Given the description of an element on the screen output the (x, y) to click on. 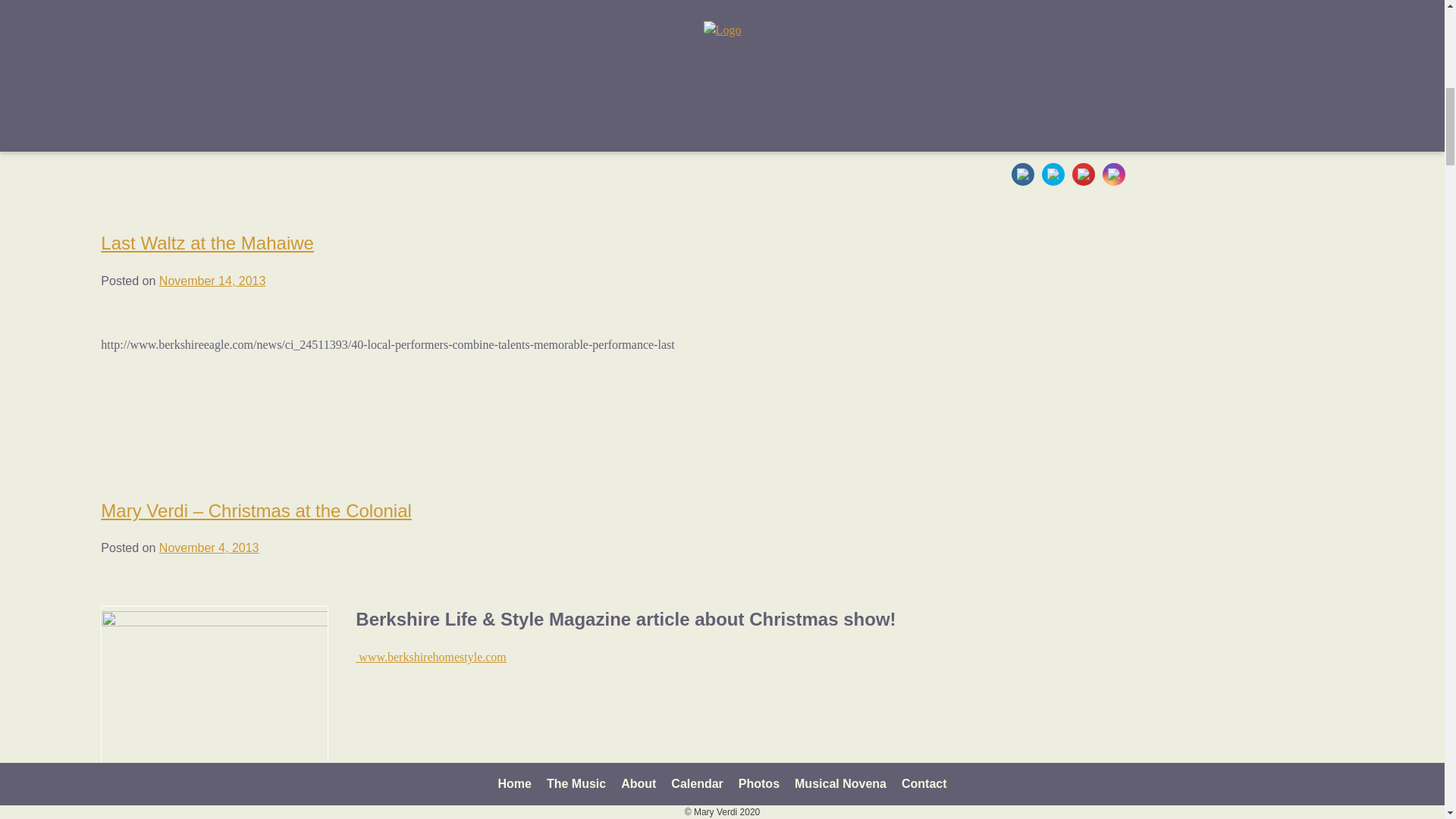
Last Waltz at the Mahaiwe (207, 242)
May 1, 2014 (191, 10)
Facebook (1022, 174)
berkshire-magazine (214, 712)
YouTube (1083, 174)
November 14, 2013 (212, 280)
Twitter (1052, 174)
